Given the description of an element on the screen output the (x, y) to click on. 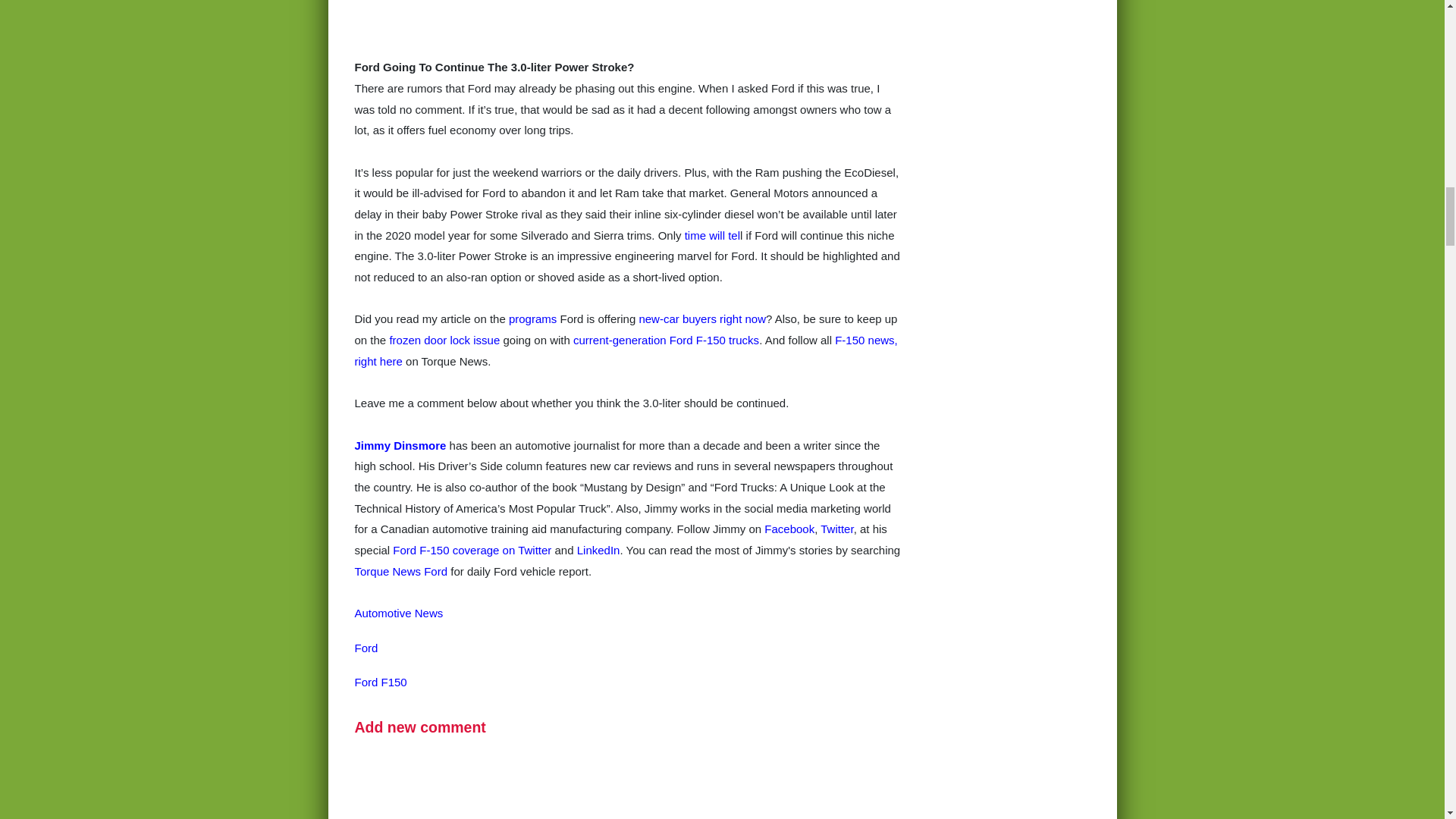
Torque News Ford (401, 571)
Automotive News (399, 612)
Add new comment (420, 727)
new-car buyers right now (702, 318)
Share your thoughts and opinions. (420, 727)
F-150 news, right here (626, 350)
Twitter (837, 528)
Jimmy Dinsmore (400, 444)
LinkedIn (598, 549)
Ford F-150 coverage on Twitter (472, 549)
current-generation Ford F-150 trucks (665, 339)
frozen door lock issue (443, 339)
Ford (366, 647)
Ford F150 (381, 681)
time will tel (711, 235)
